Given the description of an element on the screen output the (x, y) to click on. 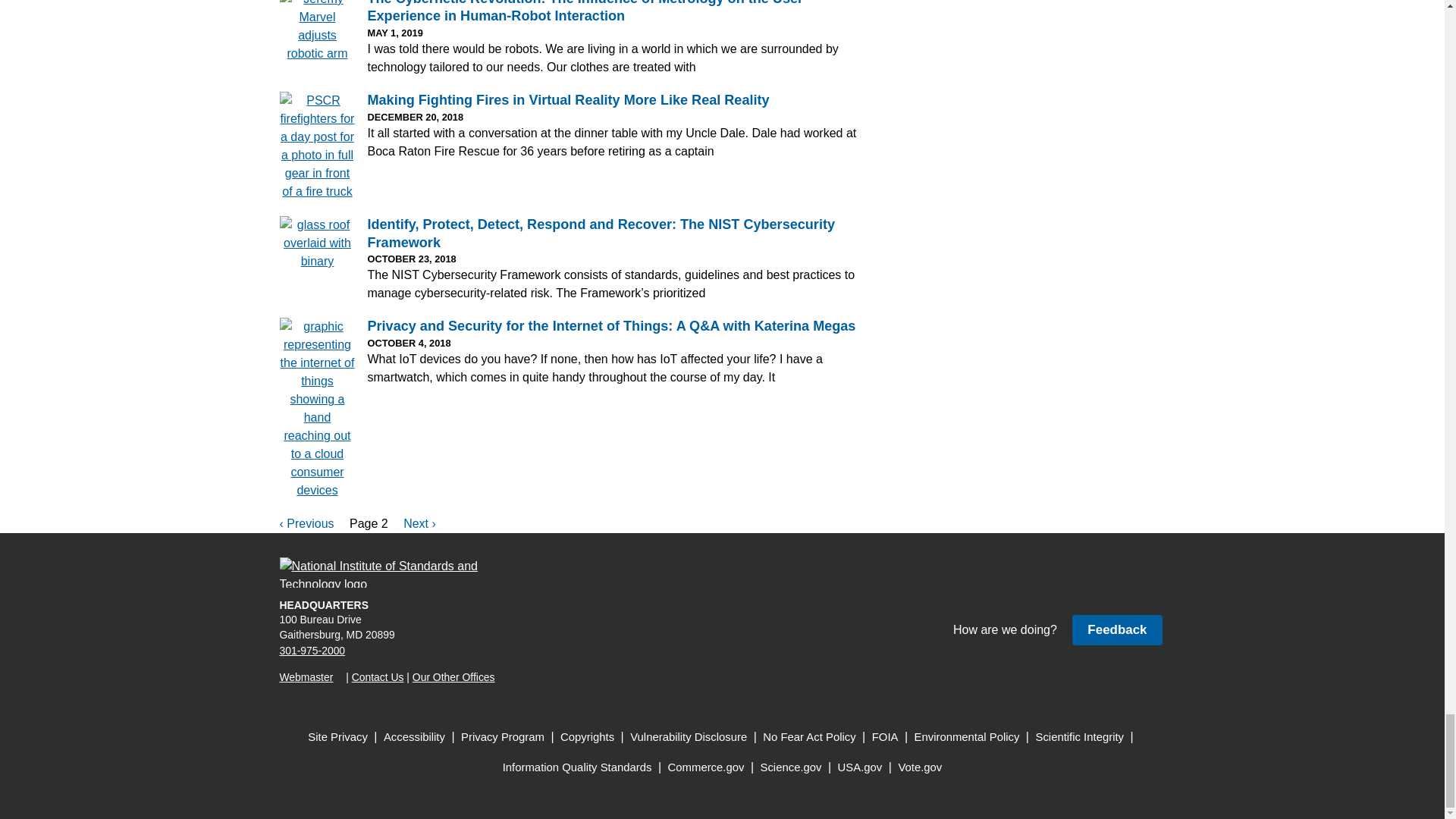
Go to previous page (307, 522)
Provide feedback (1116, 629)
National Institute of Standards and Technology (387, 572)
Go to next page (419, 522)
